Given the description of an element on the screen output the (x, y) to click on. 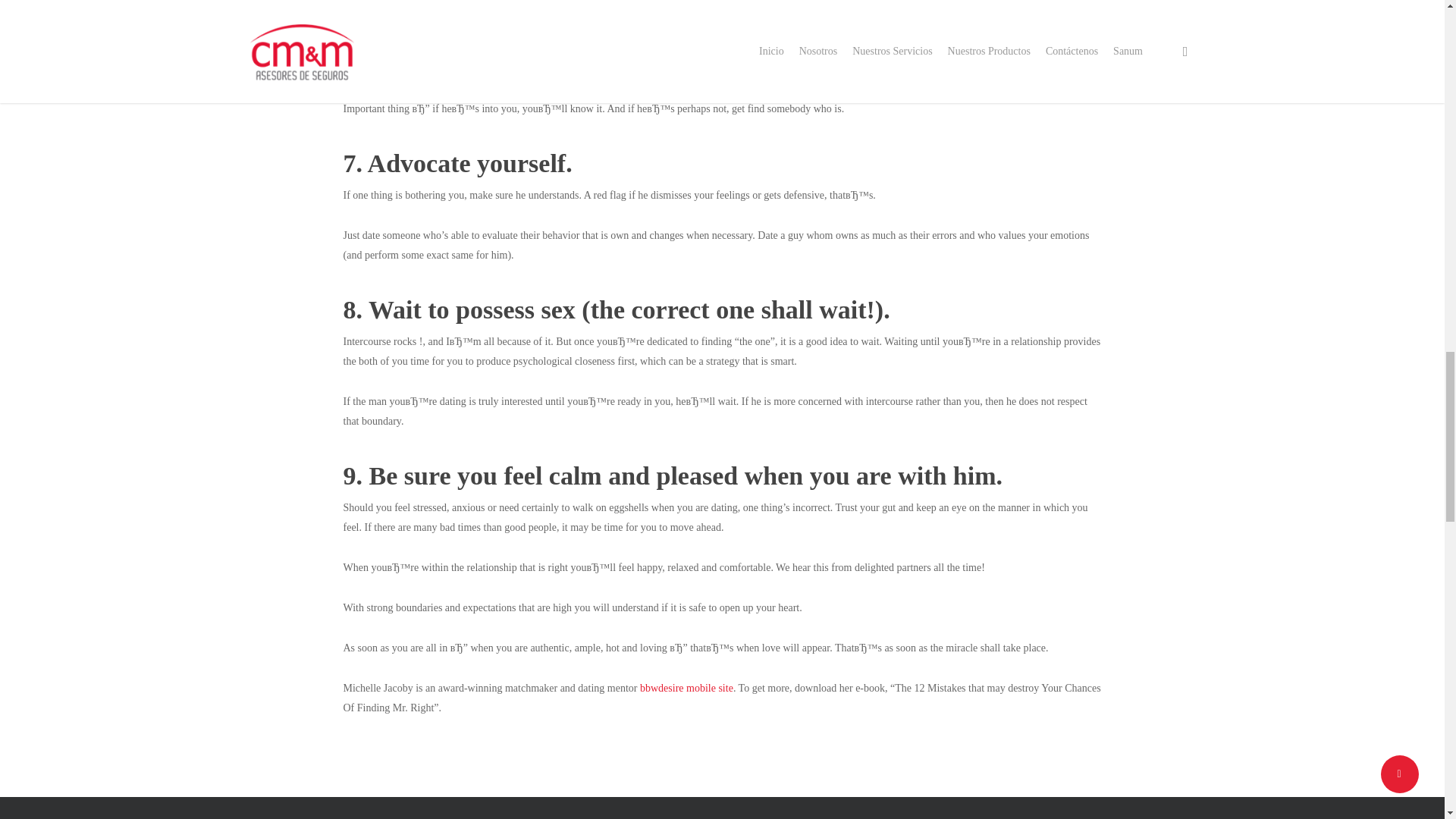
bbwdesire mobile site (686, 687)
